Given the description of an element on the screen output the (x, y) to click on. 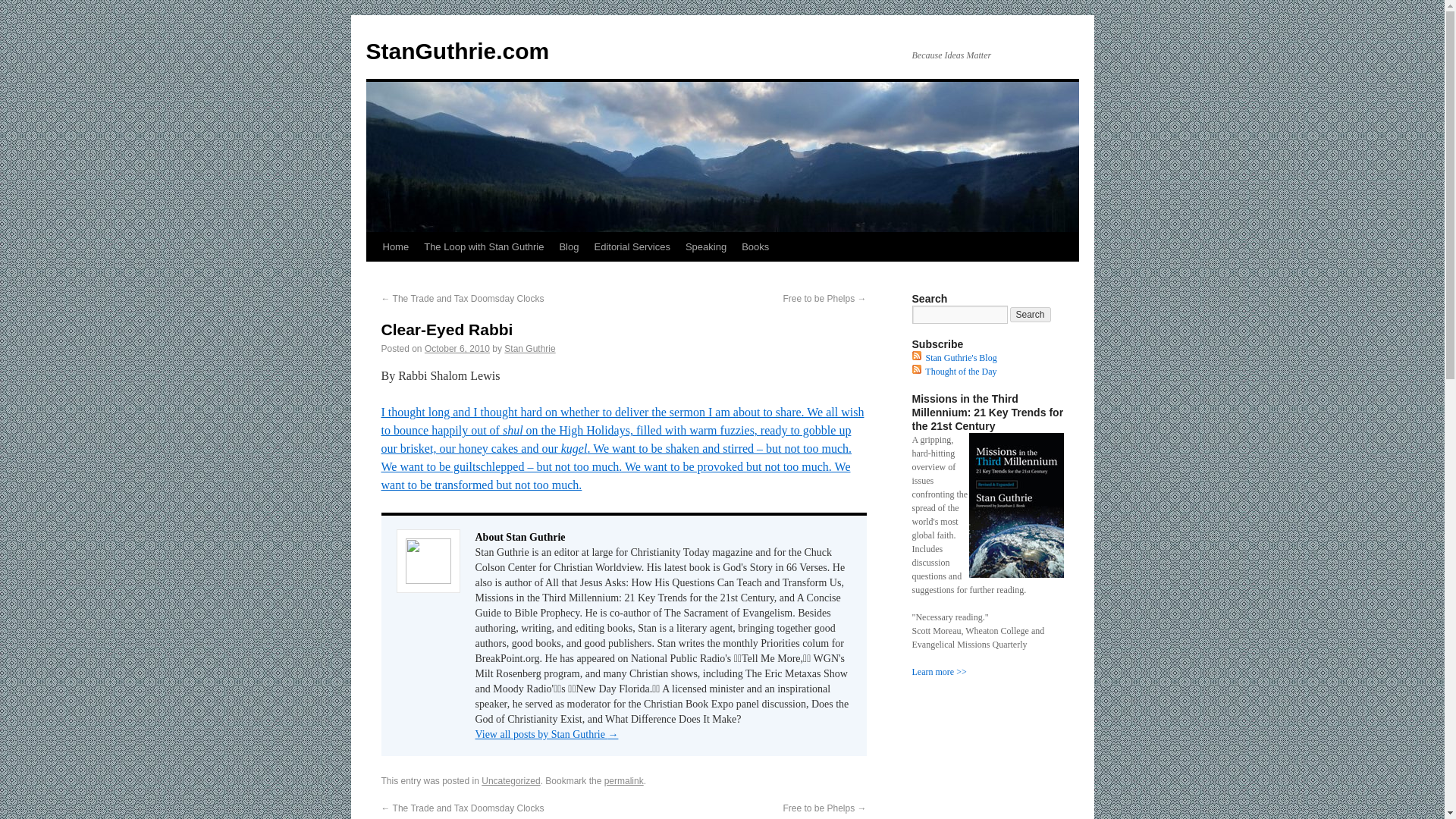
Home (395, 246)
The Loop with Stan Guthrie (483, 246)
Editorial Services (631, 246)
permalink (623, 780)
4:22 pm (457, 348)
Permalink to Clear-Eyed Rabbi (623, 780)
View all posts by Stan Guthrie (528, 348)
Search (1030, 314)
Stan Guthrie's Blog (959, 357)
Speaking (705, 246)
